Given the description of an element on the screen output the (x, y) to click on. 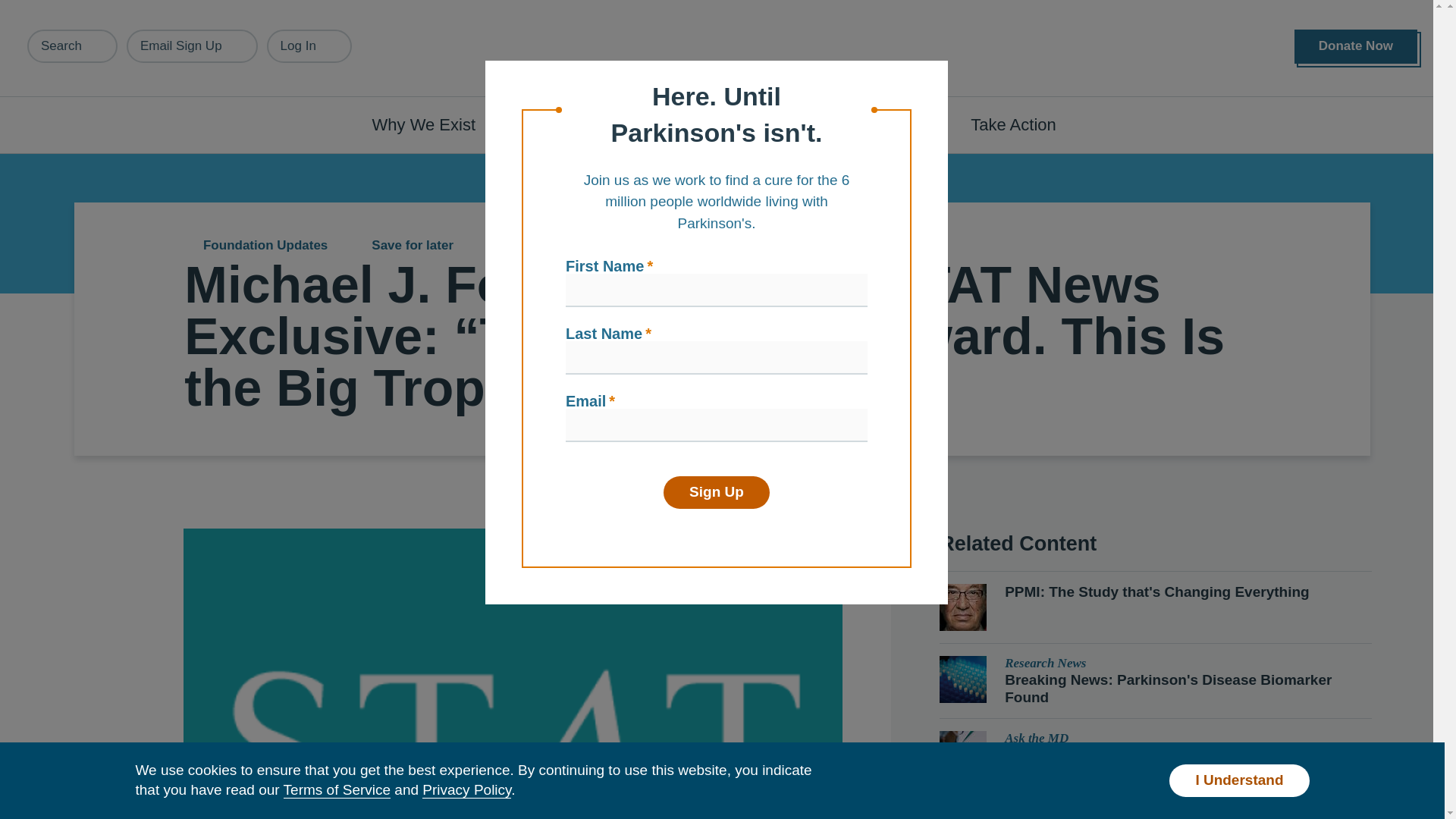
Understanding Parkinson's (640, 125)
Email Sign Up (191, 46)
Home Page (722, 48)
Donate Now (1355, 46)
Skip to main content (96, 7)
Search (72, 46)
Log In (309, 46)
Why We Exist (432, 125)
